Given the description of an element on the screen output the (x, y) to click on. 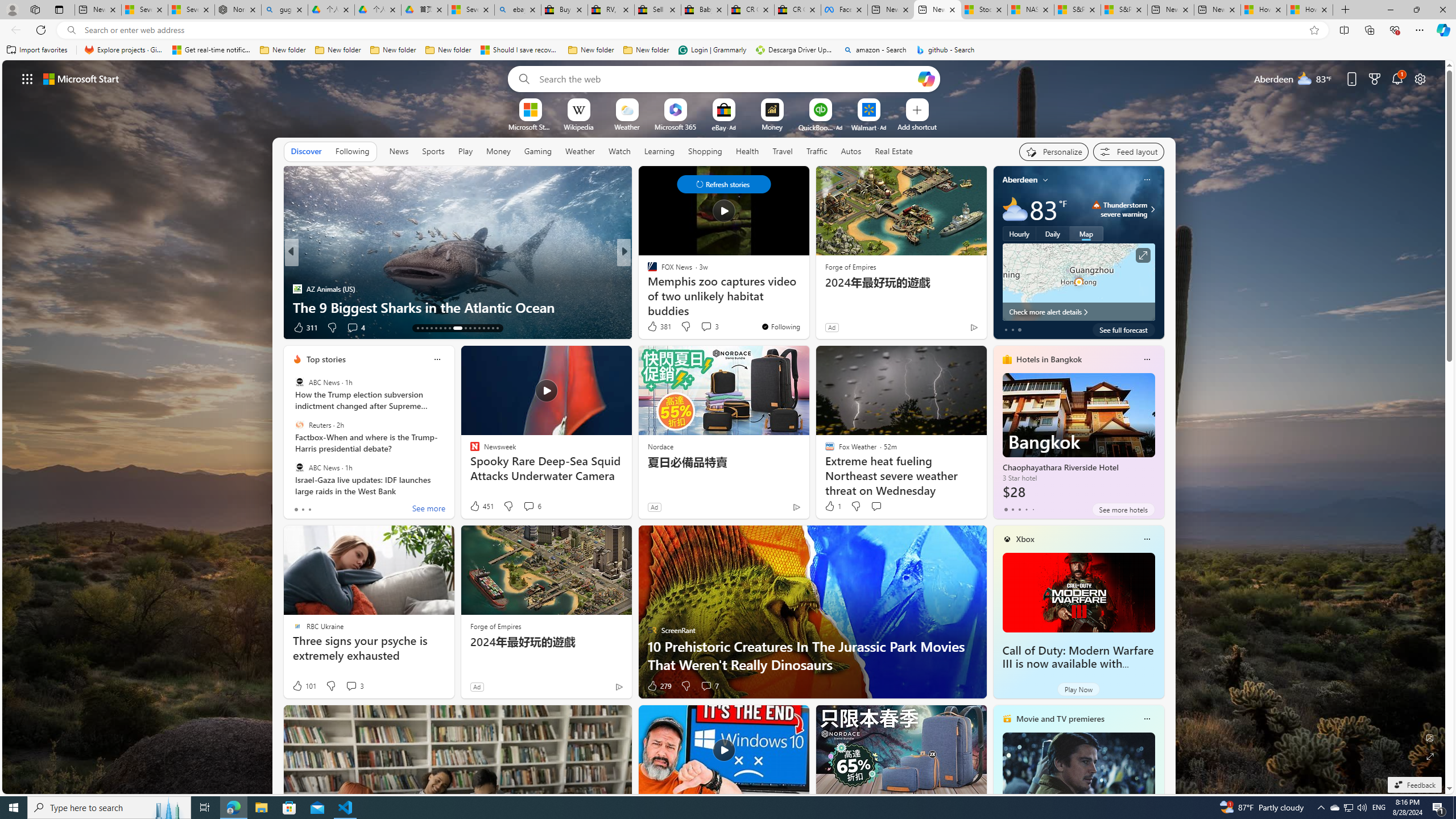
You're following FOX News (780, 326)
View comments 1 Comment (351, 327)
Collections (1369, 29)
View comments 23 Comment (6, 327)
AutomationID: tab-26 (483, 328)
Wikipedia (578, 126)
More options (1146, 718)
tab-0 (1005, 509)
tab-1 (1012, 509)
Autos (850, 151)
Discover (306, 151)
Play Now (1078, 689)
Minimize (1390, 9)
S&P 500, Nasdaq end lower, weighed by Nvidia dip | Watch (1123, 9)
